Given the description of an element on the screen output the (x, y) to click on. 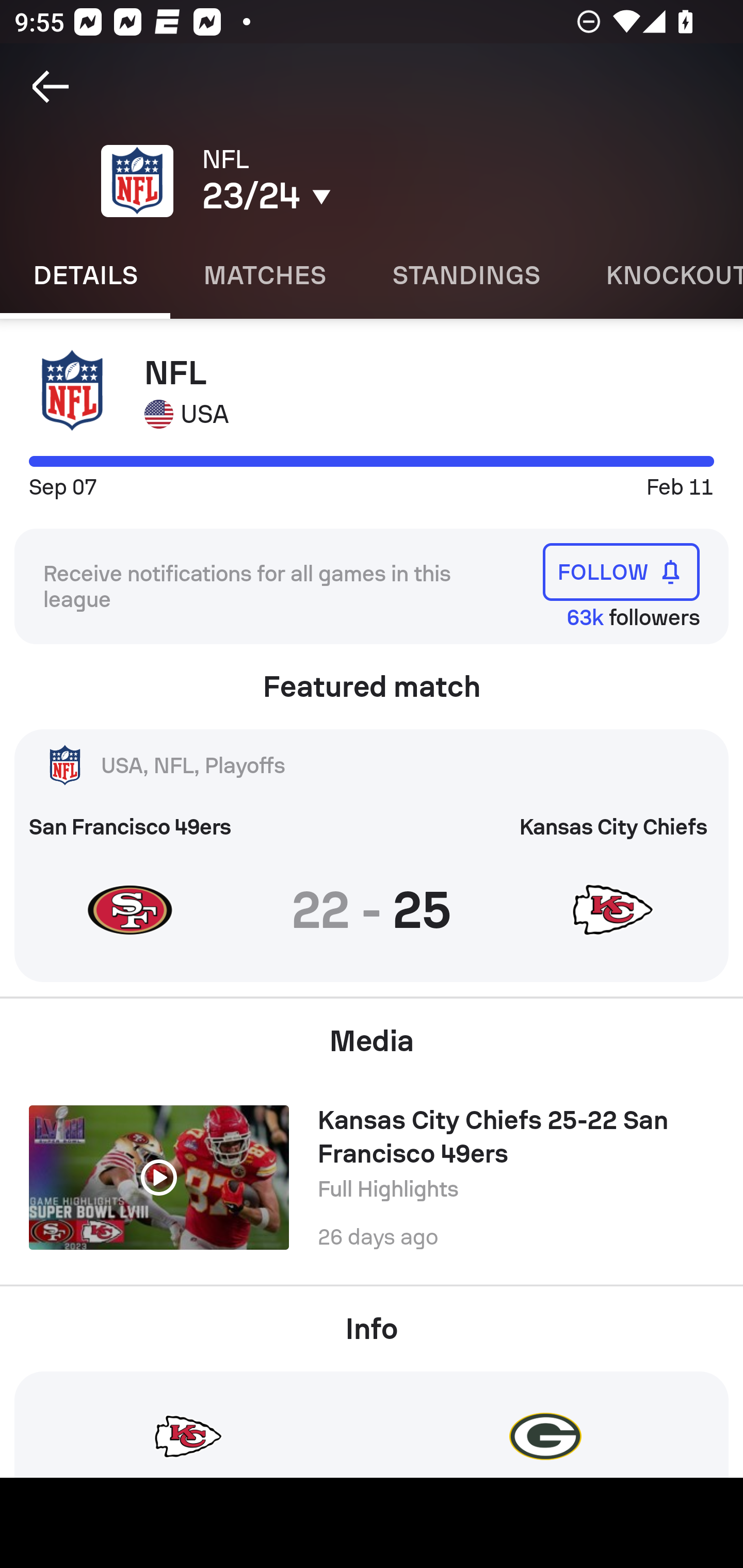
Navigate up (50, 86)
23/24 (350, 195)
Matches MATCHES (264, 275)
Standings STANDINGS (465, 275)
Knockout KNOCKOUT (657, 275)
FOLLOW (621, 571)
